Given the description of an element on the screen output the (x, y) to click on. 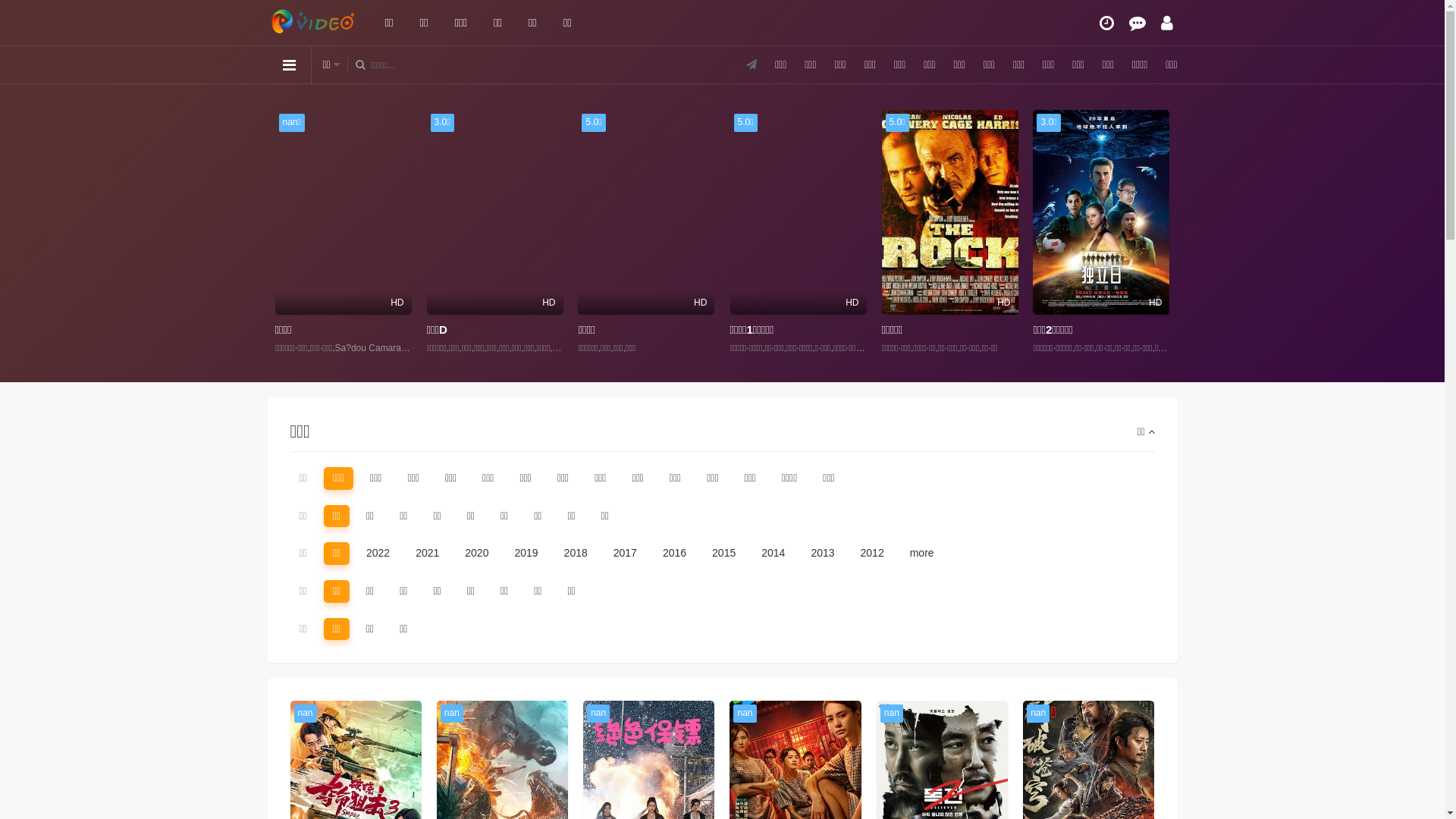
2016 Element type: text (674, 553)
2020 Element type: text (476, 553)
2017 Element type: text (625, 553)
more Element type: text (921, 553)
2018 Element type: text (575, 553)
2014 Element type: text (772, 553)
2021 Element type: text (427, 553)
2022 Element type: text (377, 553)
2013 Element type: text (822, 553)
2019 Element type: text (525, 553)
2012 Element type: text (872, 553)
2015 Element type: text (723, 553)
